Given the description of an element on the screen output the (x, y) to click on. 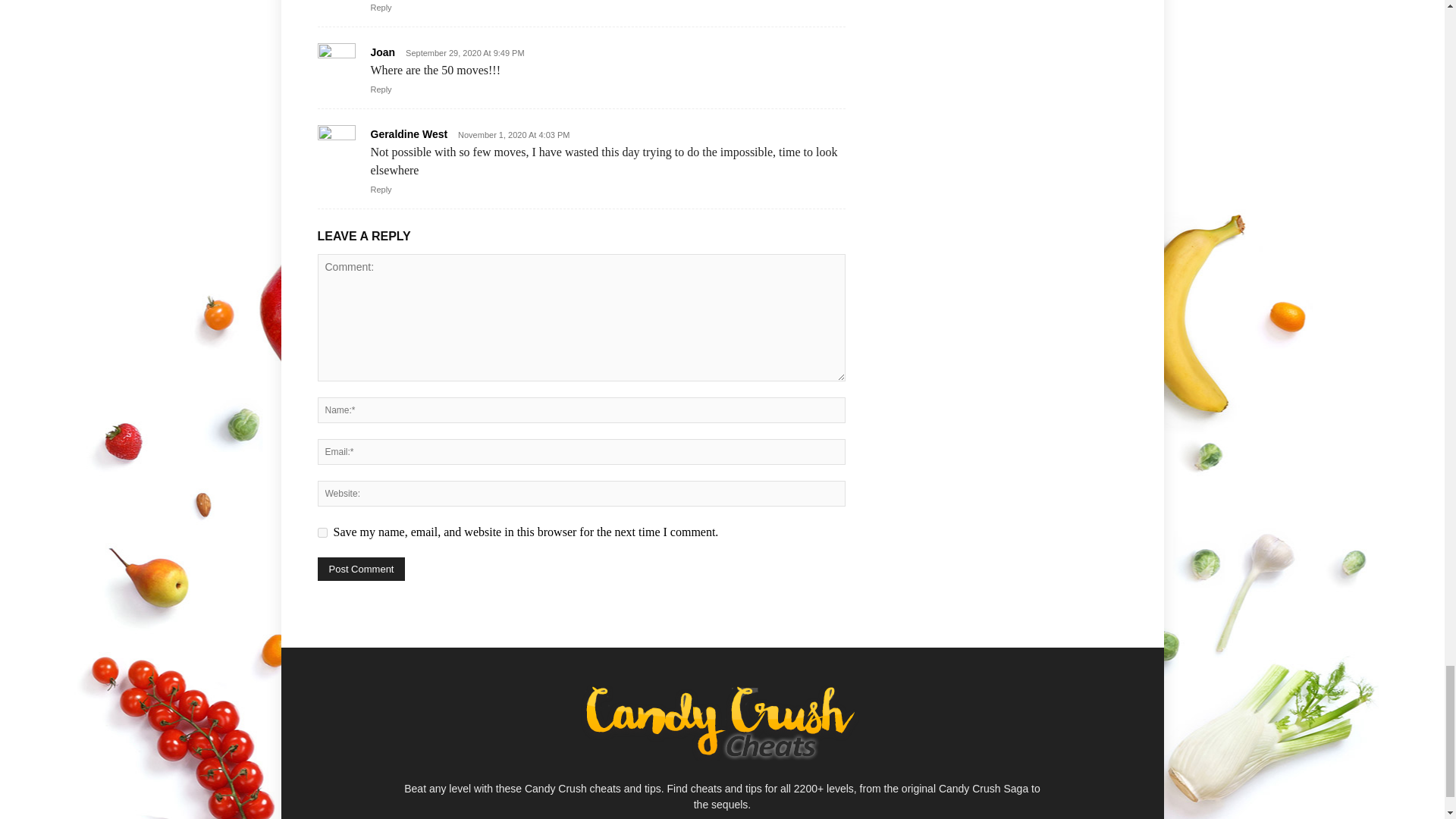
Post Comment (360, 568)
yes (321, 532)
